Given the description of an element on the screen output the (x, y) to click on. 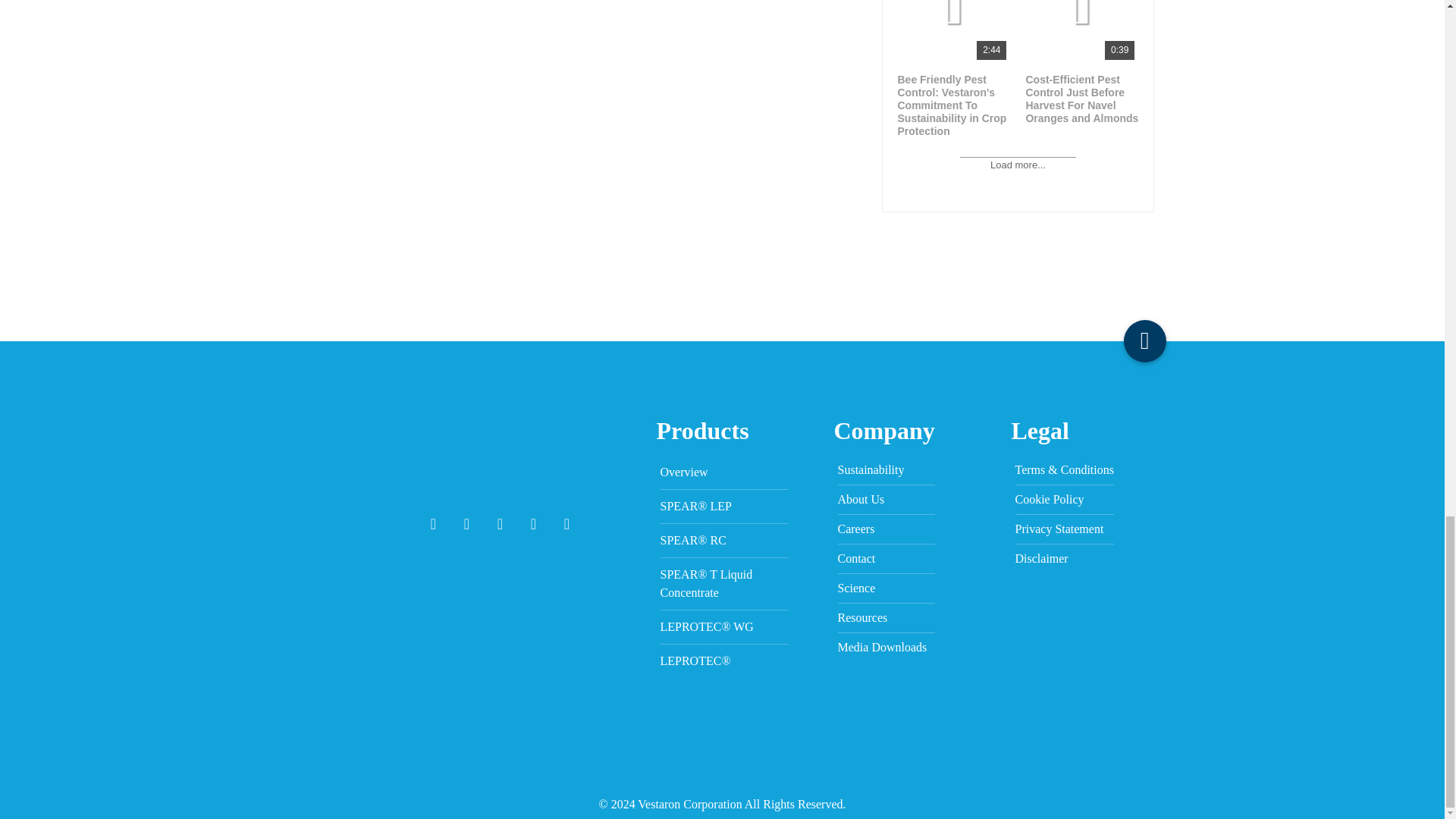
linkedIn (533, 523)
facebook (433, 523)
Youtube (499, 523)
twitter (466, 523)
